Given the description of an element on the screen output the (x, y) to click on. 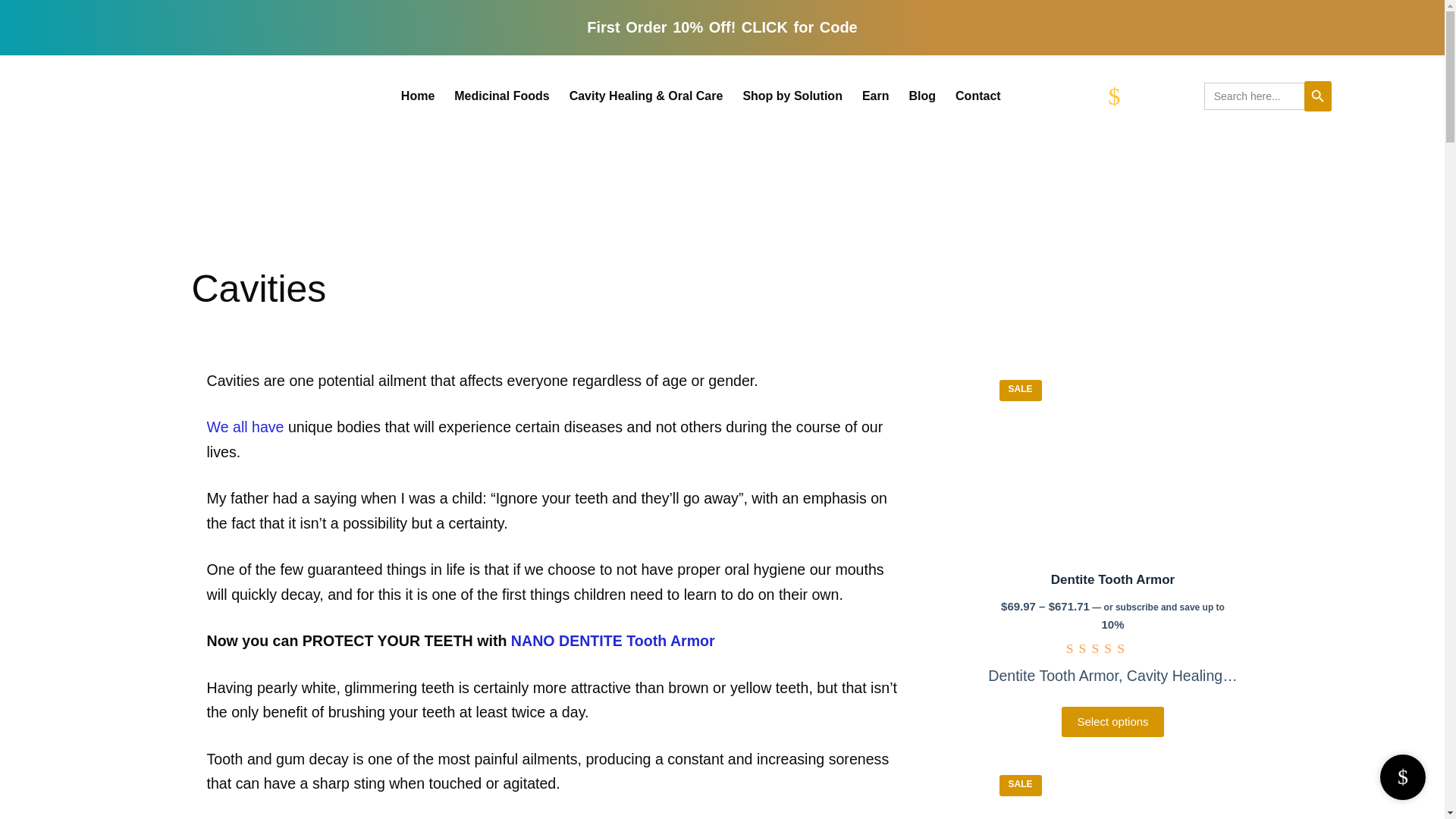
Blog (922, 96)
Medicinal Foods (501, 96)
Contact (977, 96)
Skip to content (15, 7)
Earn (875, 96)
Shop by Solution (791, 96)
Cart (1156, 96)
Search Button (1318, 96)
Dentite (1112, 462)
Home (417, 96)
